Given the description of an element on the screen output the (x, y) to click on. 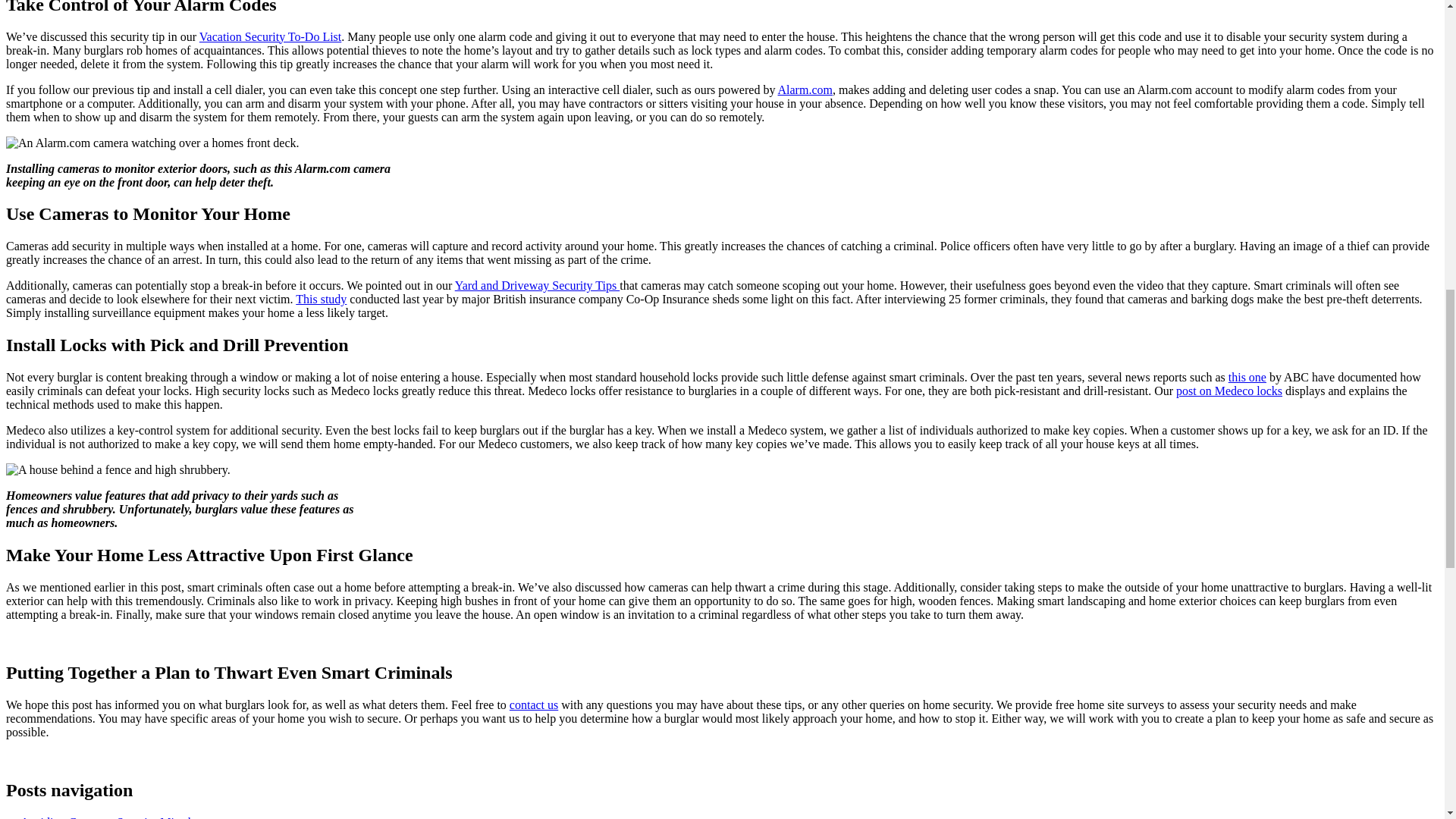
Vacation Security To-Do List (269, 36)
Yard and Driveway Security Tips  (537, 285)
Alarm.com (804, 89)
